Given the description of an element on the screen output the (x, y) to click on. 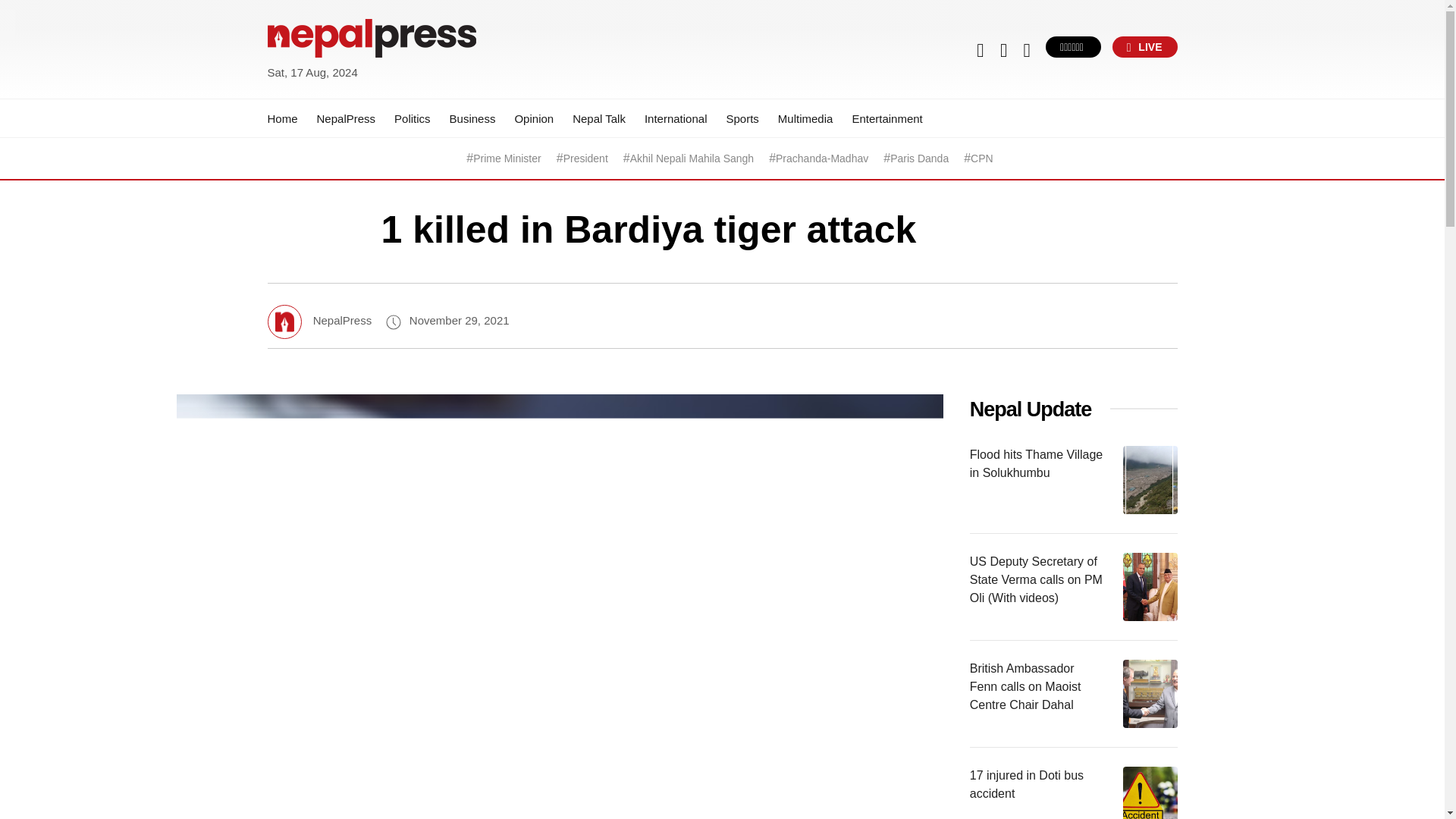
Opinion (533, 118)
LIVE (1144, 46)
Entertainment (886, 118)
Akhil Nepali Mahila Sangh (692, 158)
Prime Minister (506, 158)
Nepal Press (303, 91)
NepalPress (346, 118)
Paris Danda (919, 158)
International (676, 118)
Politics (412, 118)
